Given the description of an element on the screen output the (x, y) to click on. 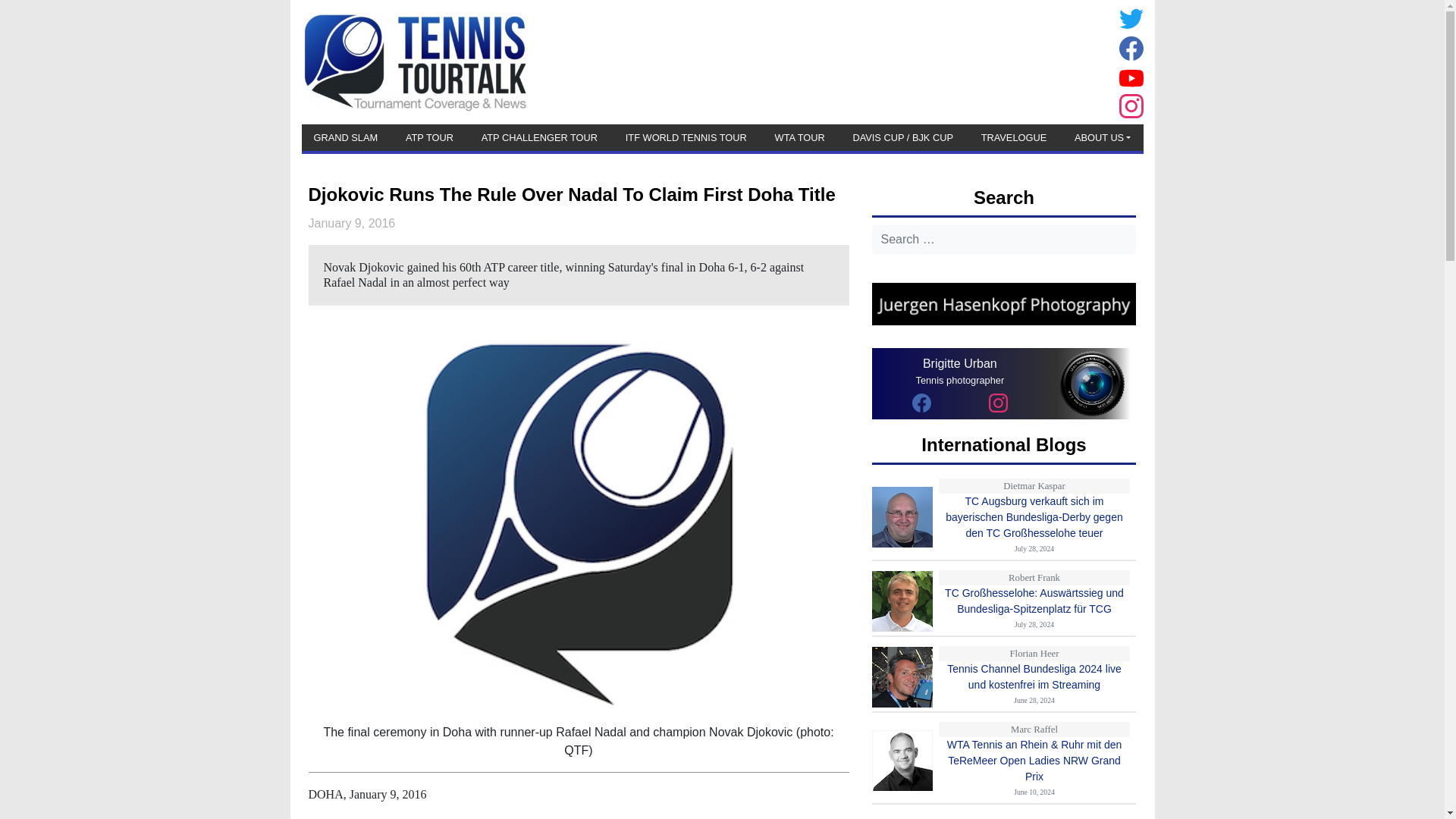
ATP Tour (429, 137)
WTA Tour (799, 137)
ABOUT US (1102, 137)
ITF World Tennis Tour (686, 137)
ATP Challenger Tour (540, 137)
GRAND SLAM (345, 137)
ATP TOUR (429, 137)
ITF WORLD TENNIS TOUR (686, 137)
TRAVELOGUE (1013, 137)
About Us (1102, 137)
Tennis TourTalk (414, 60)
ATP CHALLENGER TOUR (540, 137)
8:08 pm (350, 223)
Travelogue (1013, 137)
